Given the description of an element on the screen output the (x, y) to click on. 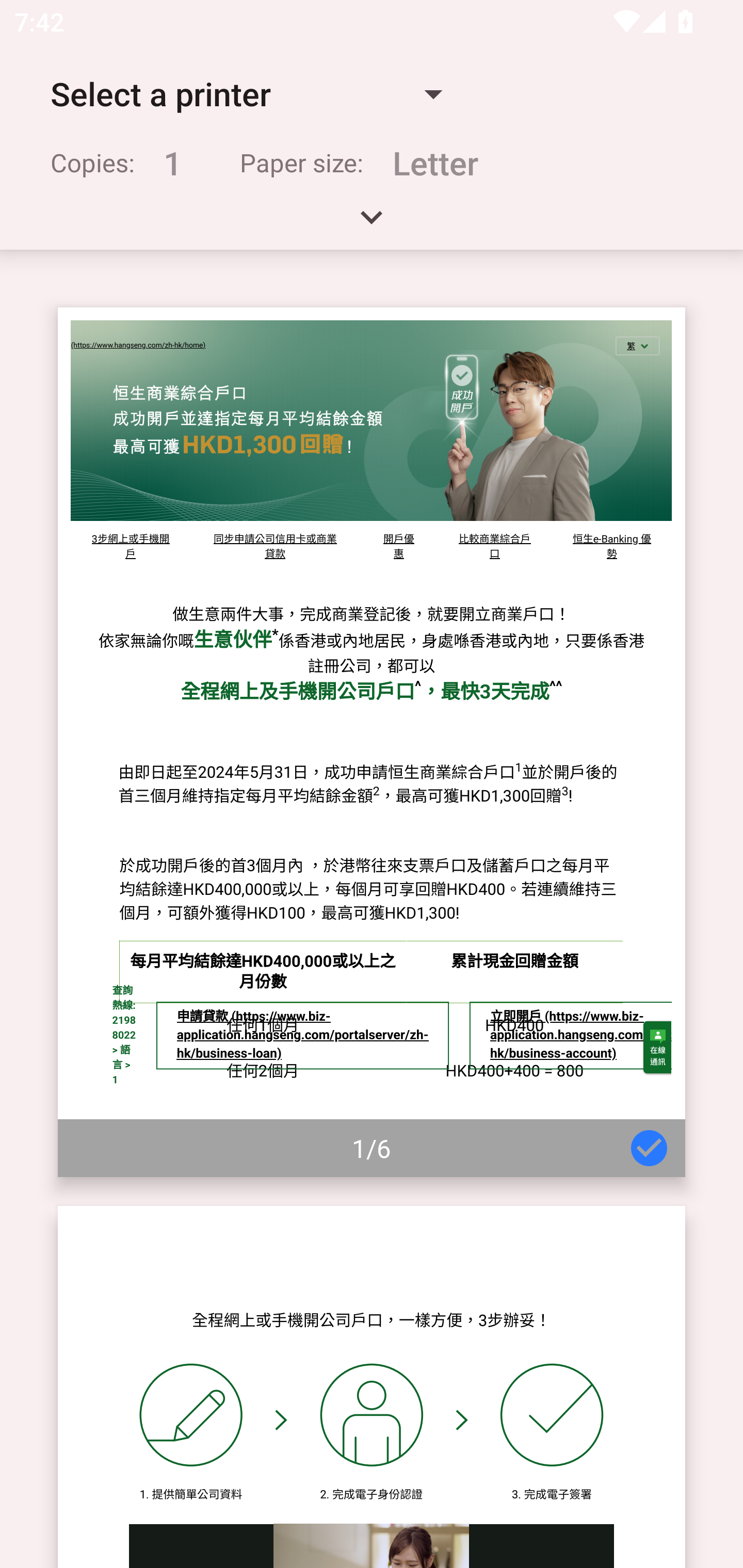
Select a printer (245, 93)
Expand handle (371, 224)
Page 1 of 6 1/6 (371, 742)
Page 3 of 6 (371, 1386)
